Given the description of an element on the screen output the (x, y) to click on. 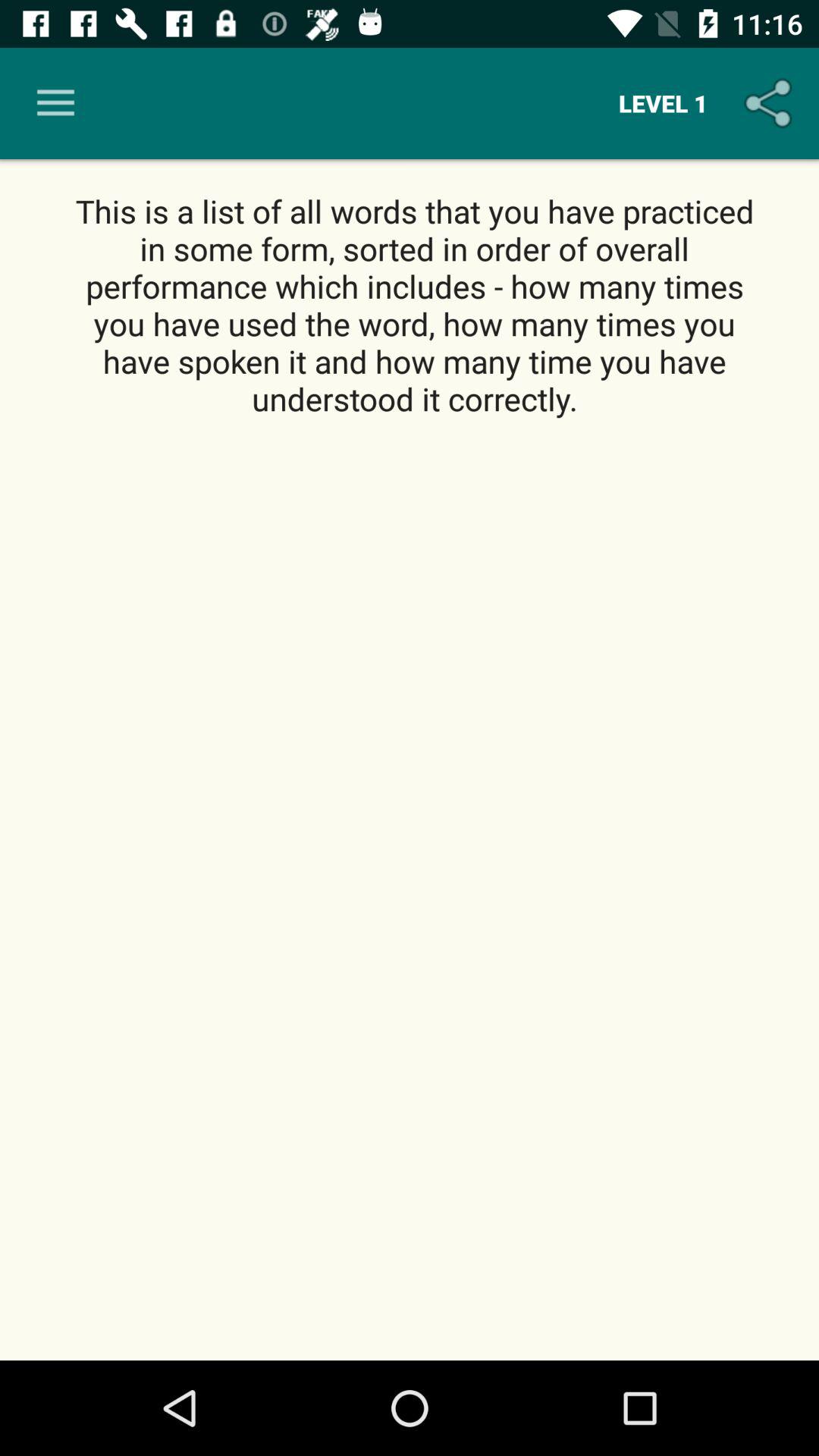
turn on the icon above this is a (771, 103)
